Given the description of an element on the screen output the (x, y) to click on. 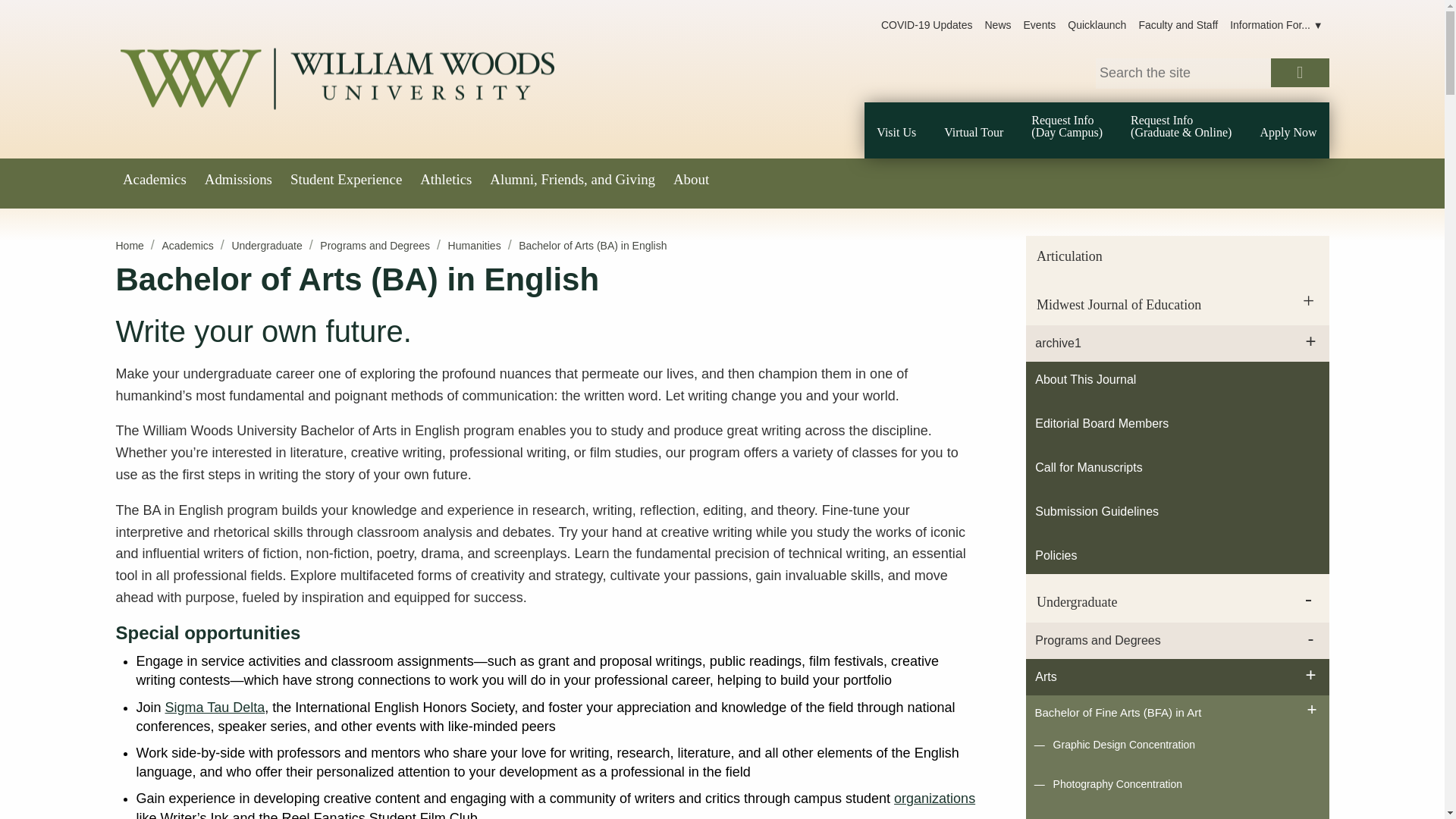
Quicklaunch (1096, 25)
Virtual Tour (972, 132)
Events (1039, 25)
Alumni, Friends, and Giving (572, 179)
Pay Deposit (1162, 29)
Visit Us (896, 132)
News (997, 25)
Athletics (446, 179)
Visit Us (560, 29)
Apply Now (1024, 29)
